Given the description of an element on the screen output the (x, y) to click on. 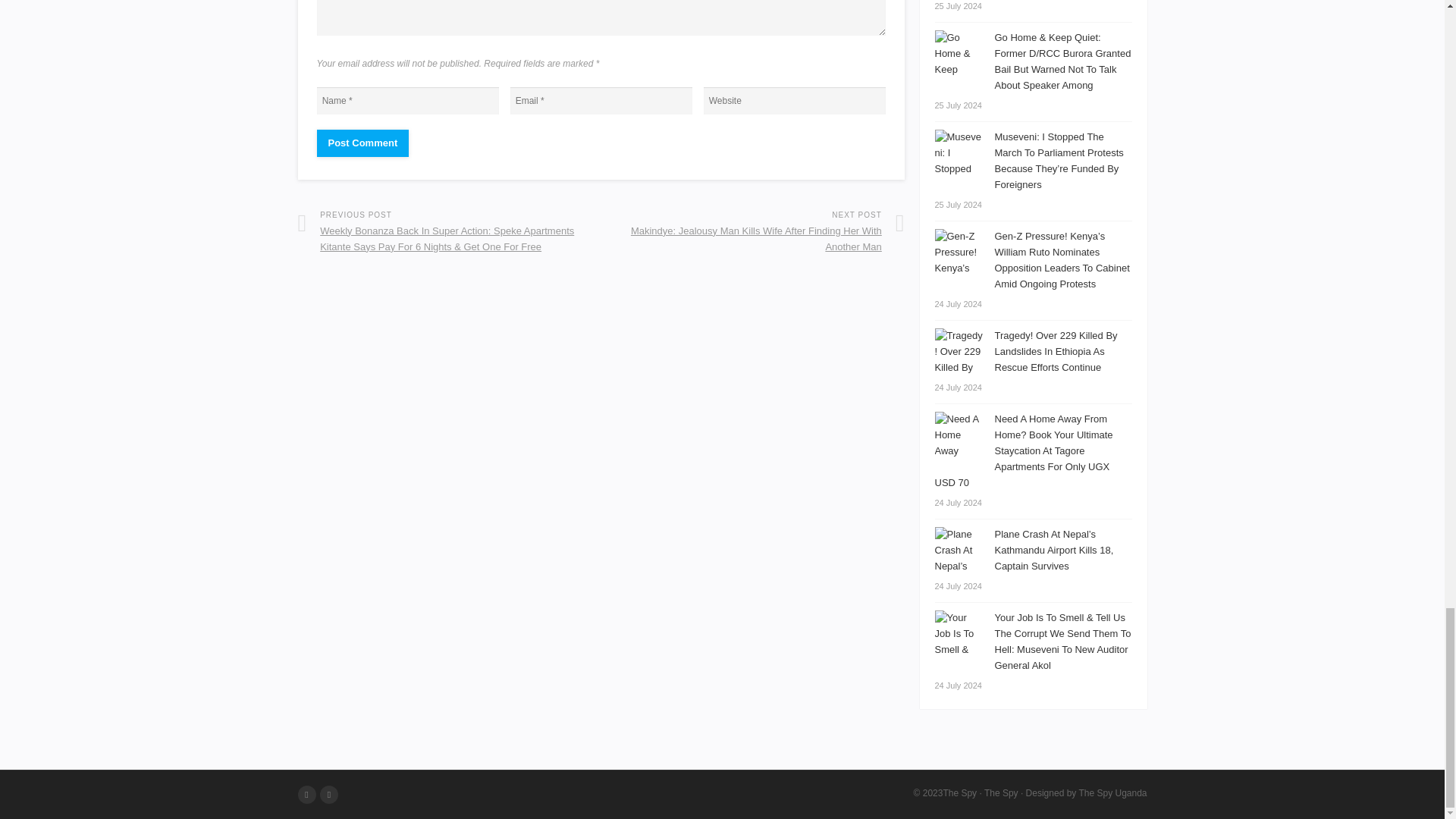
Post Comment (363, 143)
